Given the description of an element on the screen output the (x, y) to click on. 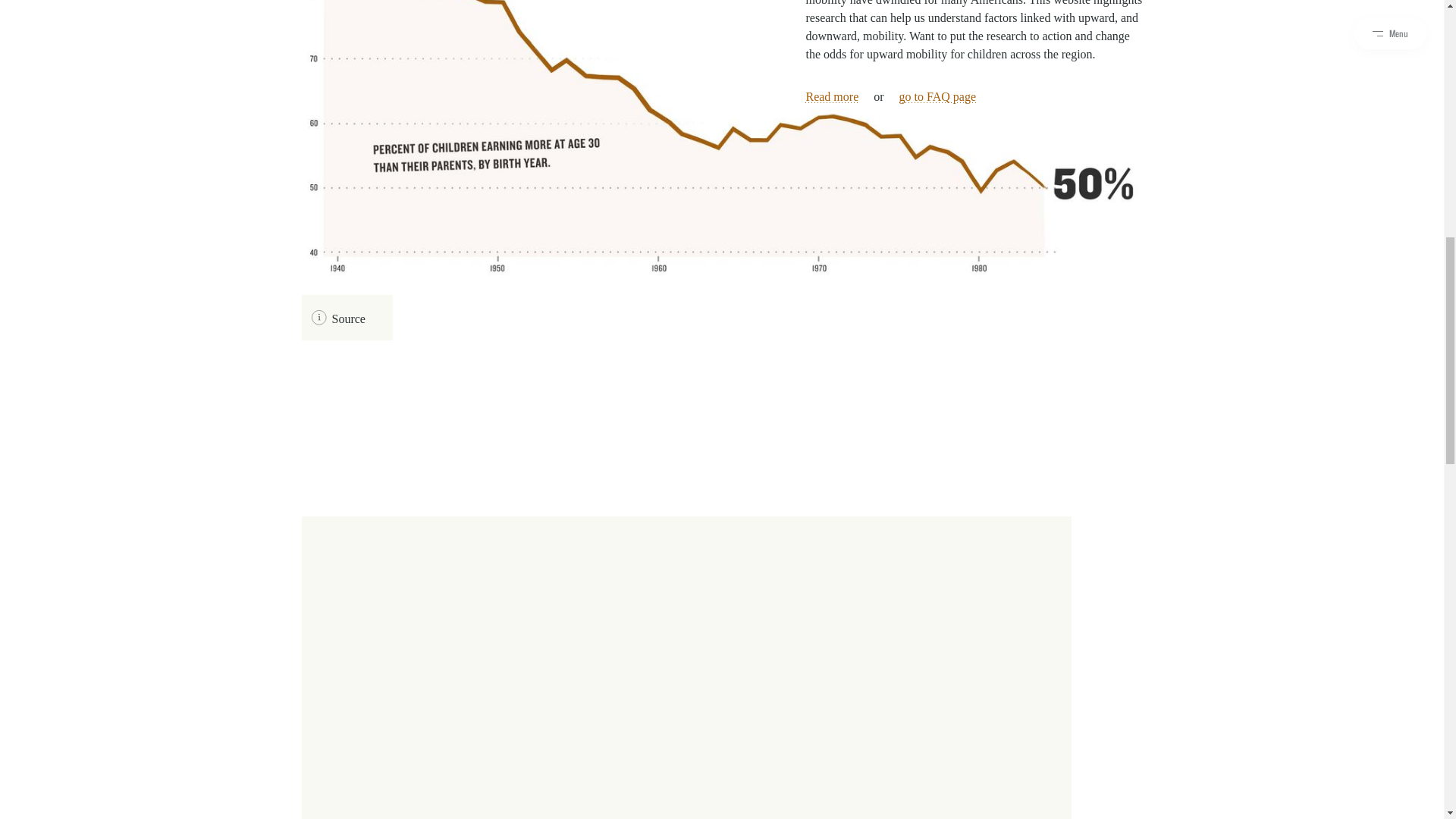
go to FAQ page (937, 96)
Read more (832, 96)
